Given the description of an element on the screen output the (x, y) to click on. 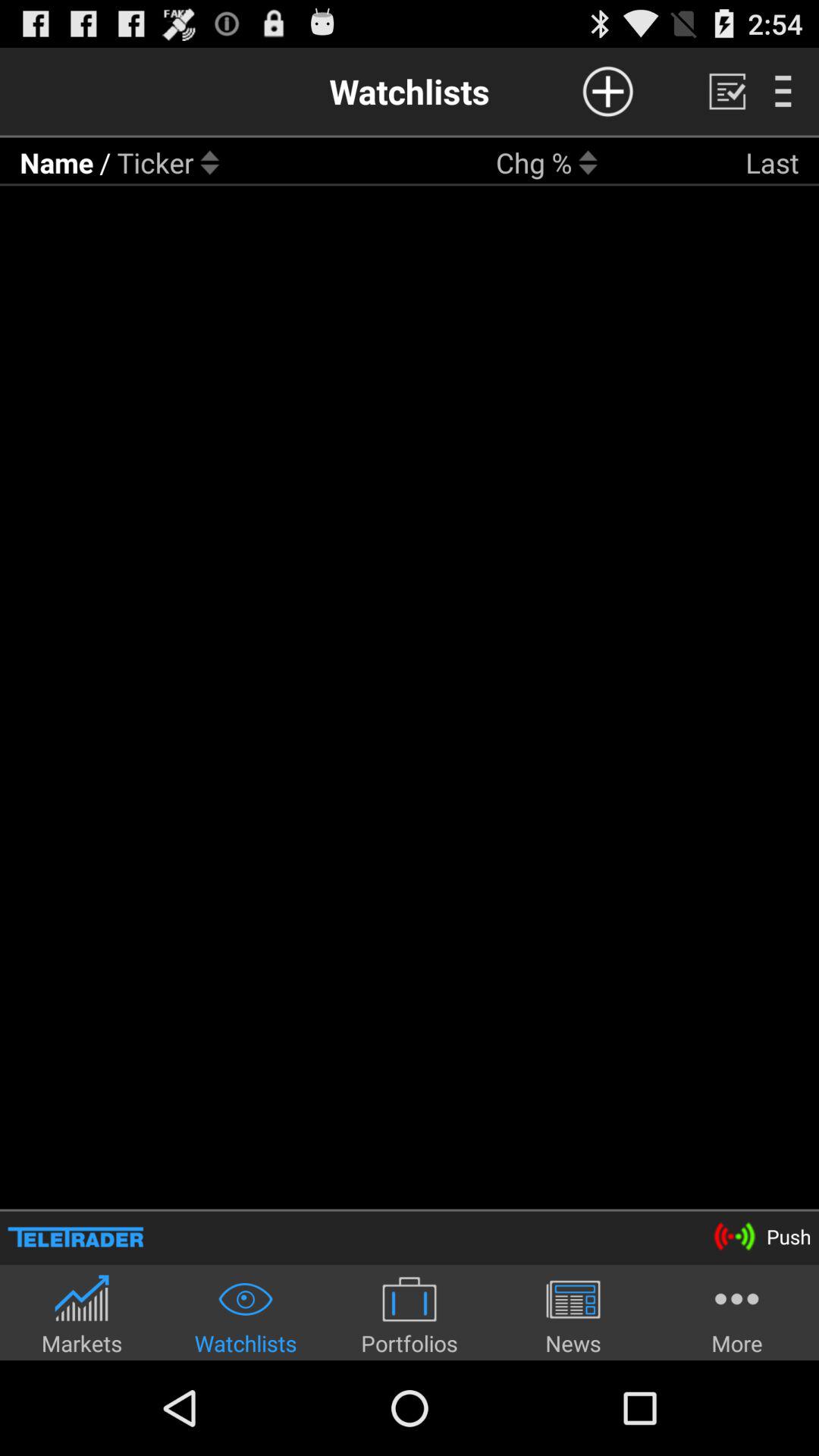
choose item next to the / icon (155, 162)
